Given the description of an element on the screen output the (x, y) to click on. 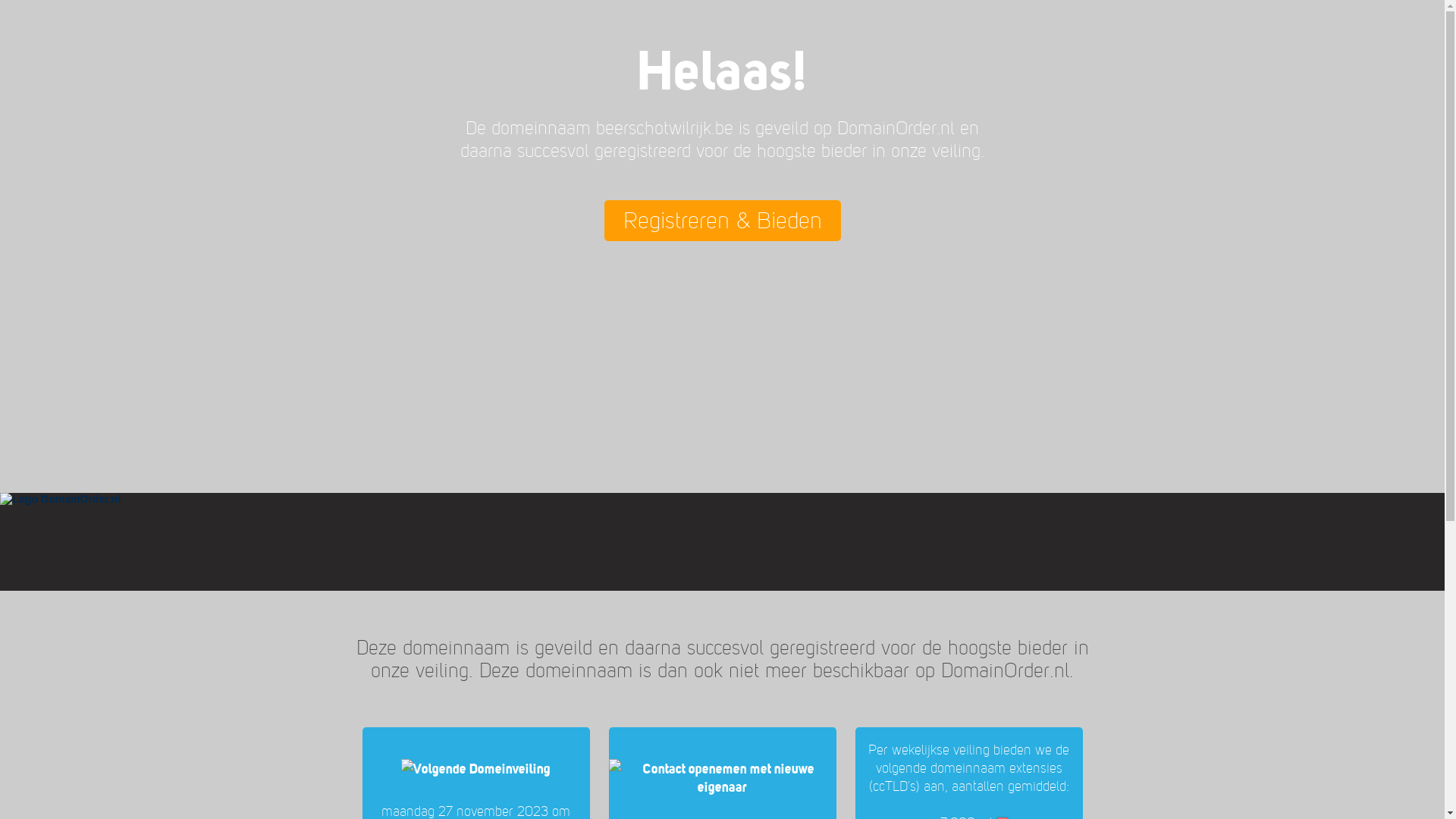
Registreren & Bieden Element type: text (721, 220)
